Given the description of an element on the screen output the (x, y) to click on. 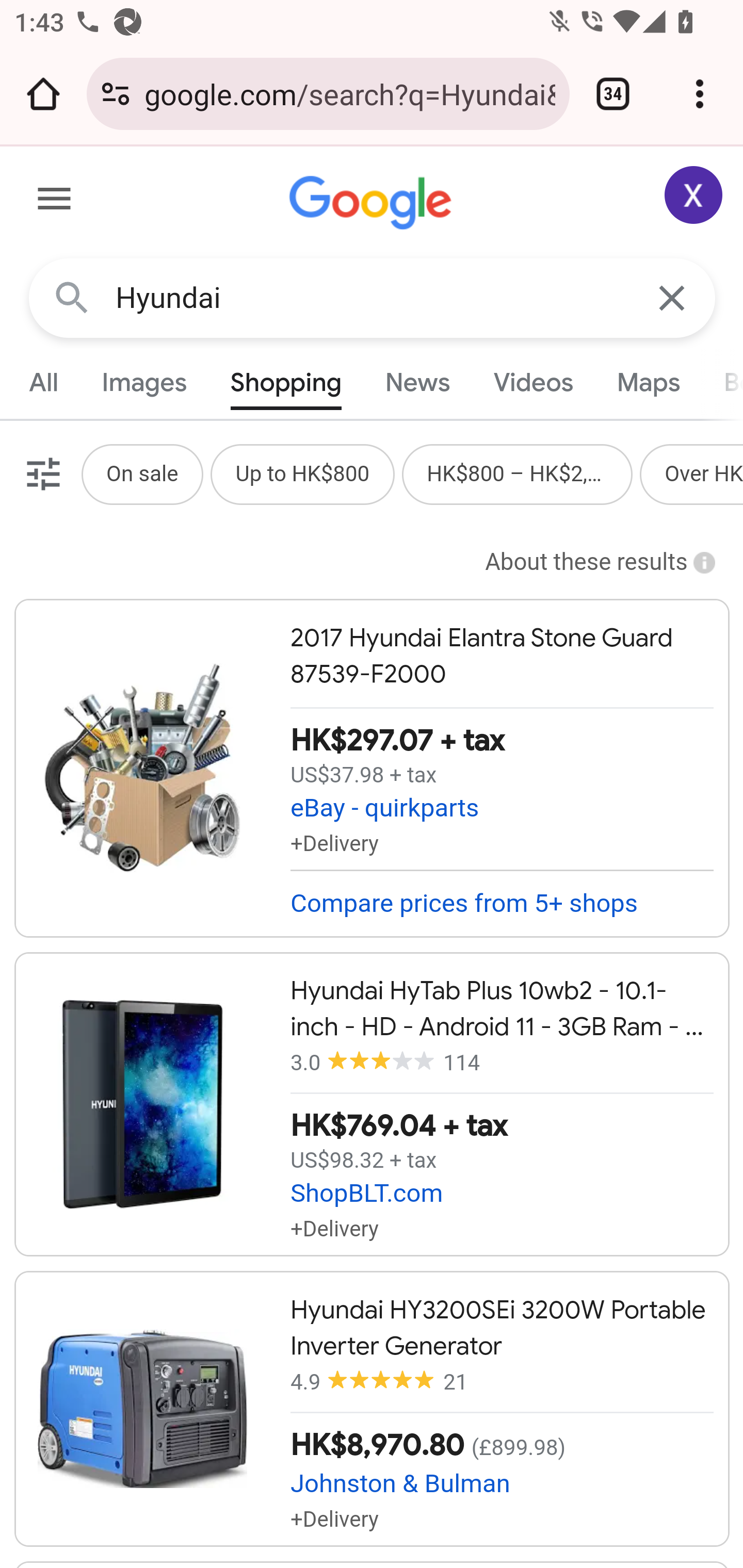
Open the home page (43, 93)
Connection is secure (115, 93)
Switch or close tabs (612, 93)
Customize and control Google Chrome (699, 93)
Main menu (54, 202)
Google (372, 203)
Google Account: Xiaoran (zxrappiumtest@gmail.com) (694, 195)
Google Search (71, 296)
Clear Search (672, 296)
Hyundai (372, 297)
All (43, 382)
Images (144, 382)
News (417, 382)
Videos (533, 382)
Maps (647, 382)
Filters.0 filters applied. (41, 473)
On sale (141, 473)
Up to HK$800 (302, 473)
HK$800 – HK$2,500 (517, 473)
Over HK$2,500 (703, 473)
2017 Hyundai Elantra Stone Guard 87539-F2000 (371, 767)
Compare prices from 5+ shops (501, 903)
